Given the description of an element on the screen output the (x, y) to click on. 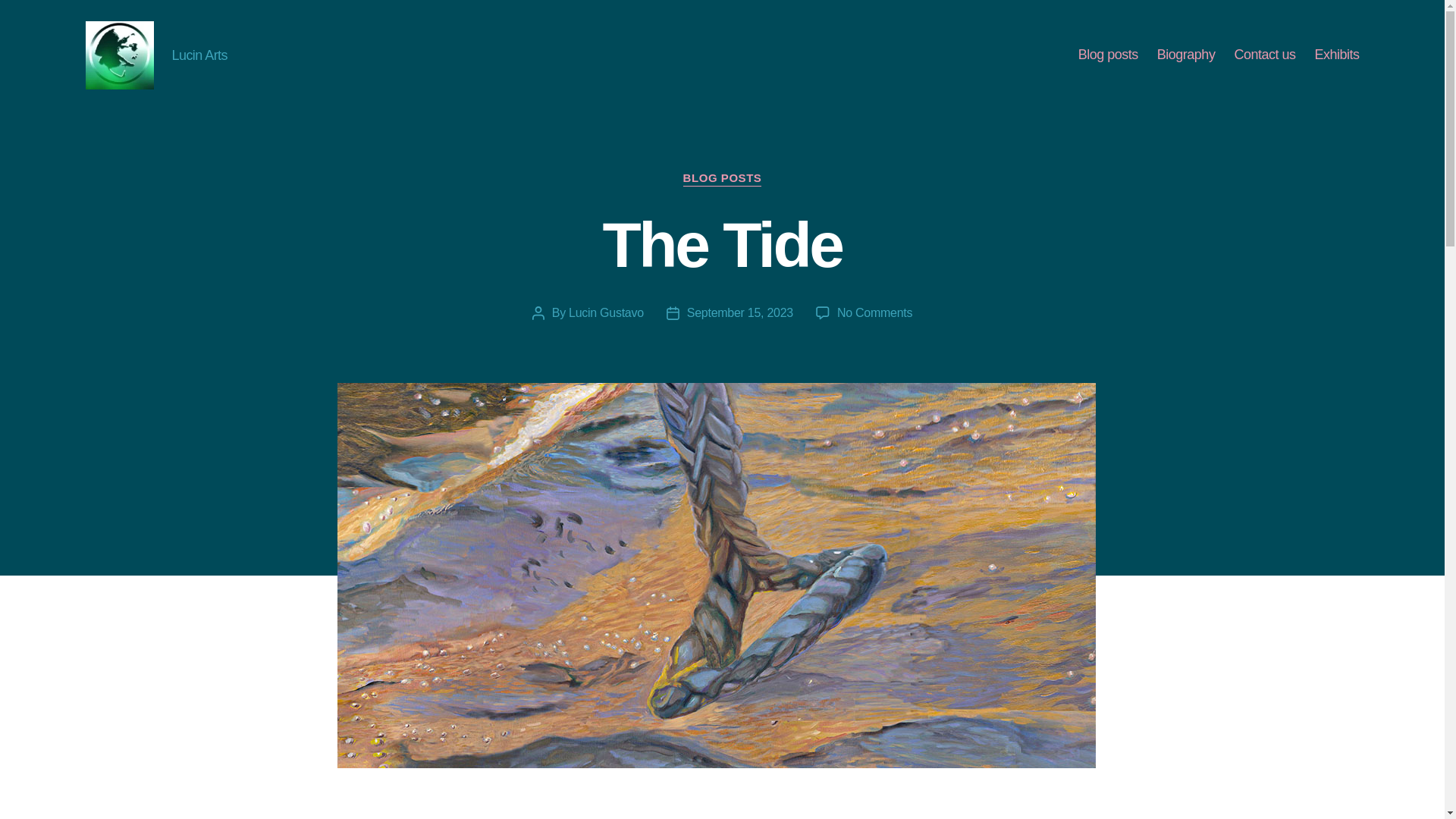
BLOG POSTS (721, 178)
No Comments (874, 312)
Contact us (1264, 54)
Exhibits (1336, 54)
Blog posts (1108, 54)
Lucin Gustavo (606, 312)
September 15, 2023 (740, 312)
Biography (1186, 54)
